Given the description of an element on the screen output the (x, y) to click on. 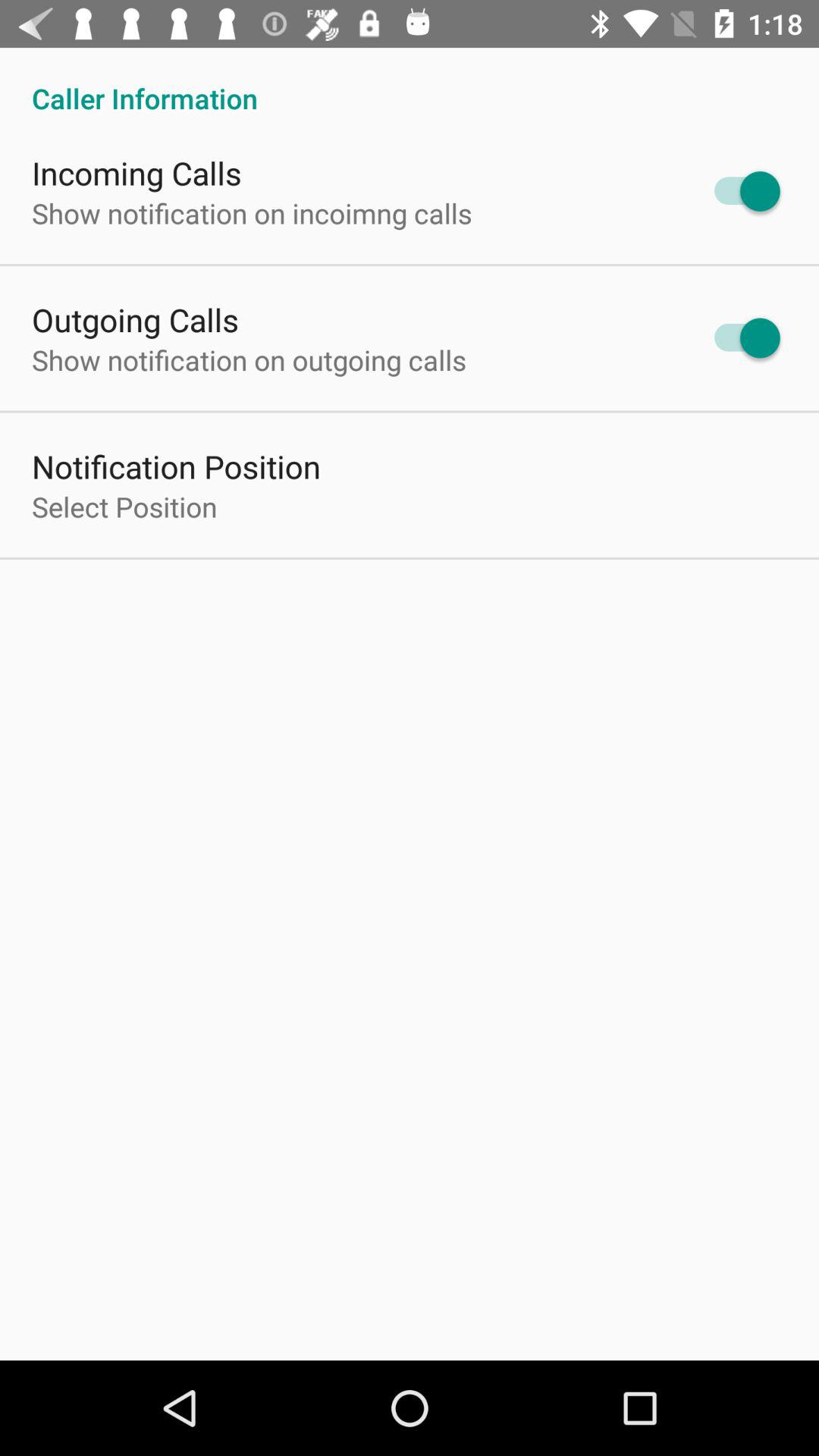
turn on the notification position icon (175, 465)
